Given the description of an element on the screen output the (x, y) to click on. 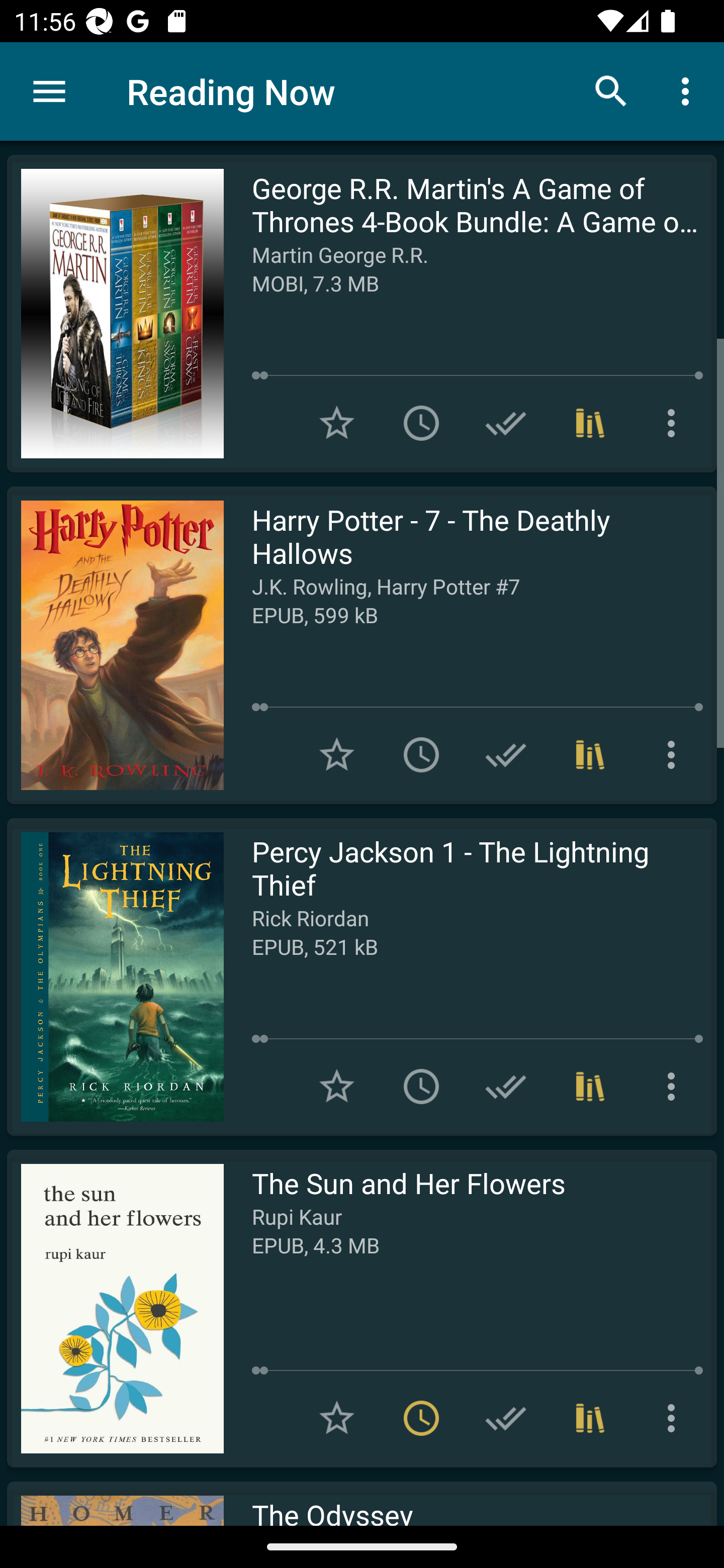
Menu (49, 91)
Search books & documents (611, 90)
More options (688, 90)
Add to Favorites (336, 423)
Add to To read (421, 423)
Add to Have read (505, 423)
Collections (1) (590, 423)
More options (674, 423)
Read Harry Potter - 7 - The Deathly Hallows (115, 645)
Add to Favorites (336, 753)
Add to To read (421, 753)
Add to Have read (505, 753)
Collections (1) (590, 753)
More options (674, 753)
Read Percy Jackson 1 - The Lightning Thief (115, 976)
Add to Favorites (336, 1086)
Add to To read (421, 1086)
Add to Have read (505, 1086)
Collections (1) (590, 1086)
More options (674, 1086)
Read The Sun and Her Flowers (115, 1308)
Add to Favorites (336, 1417)
Remove from To read (421, 1417)
Add to Have read (505, 1417)
Collections (1) (590, 1417)
More options (674, 1417)
